Given the description of an element on the screen output the (x, y) to click on. 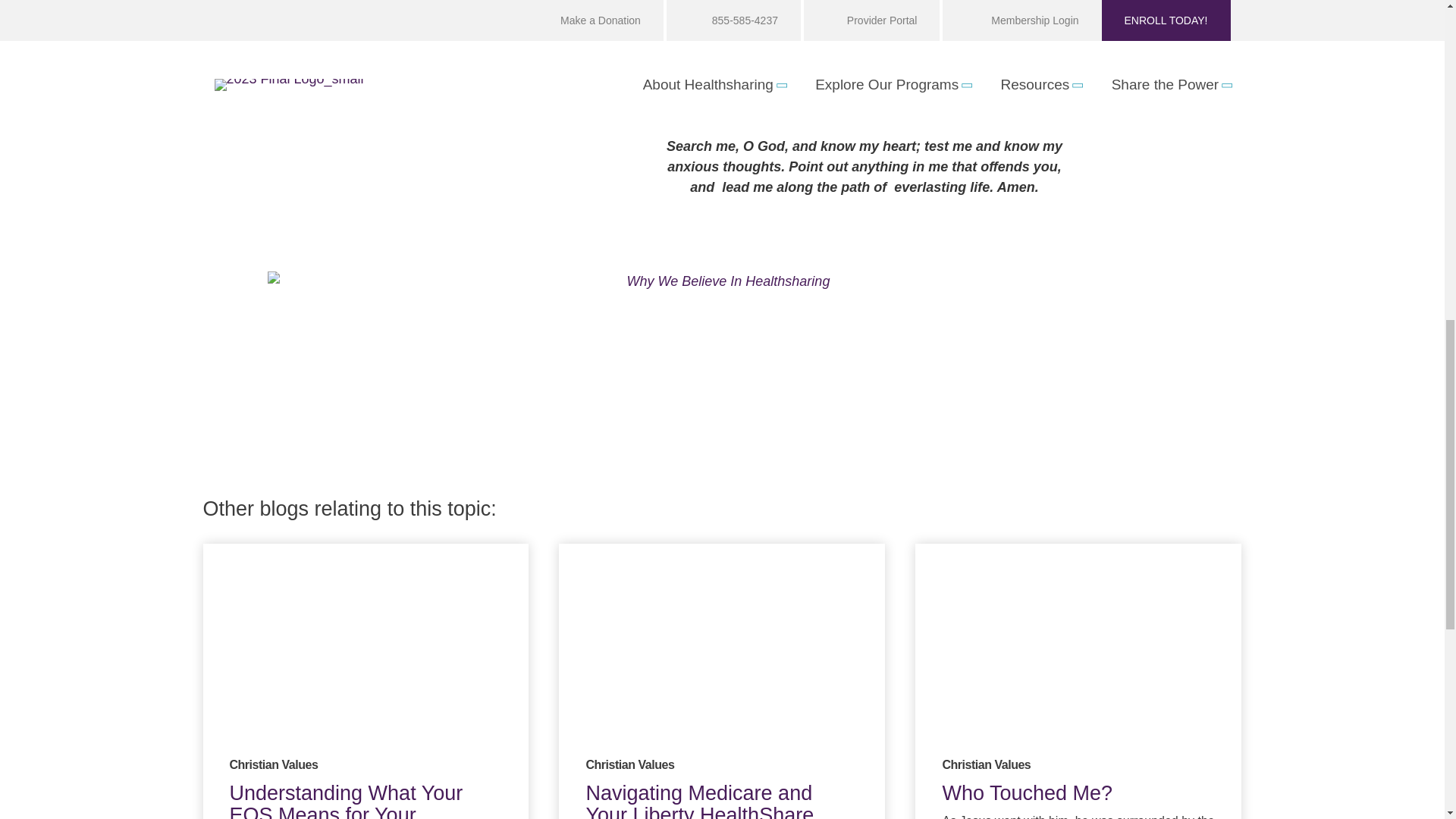
Jeremiah 17:9-10 NLT (1104, 33)
Christian Values (272, 764)
